Given the description of an element on the screen output the (x, y) to click on. 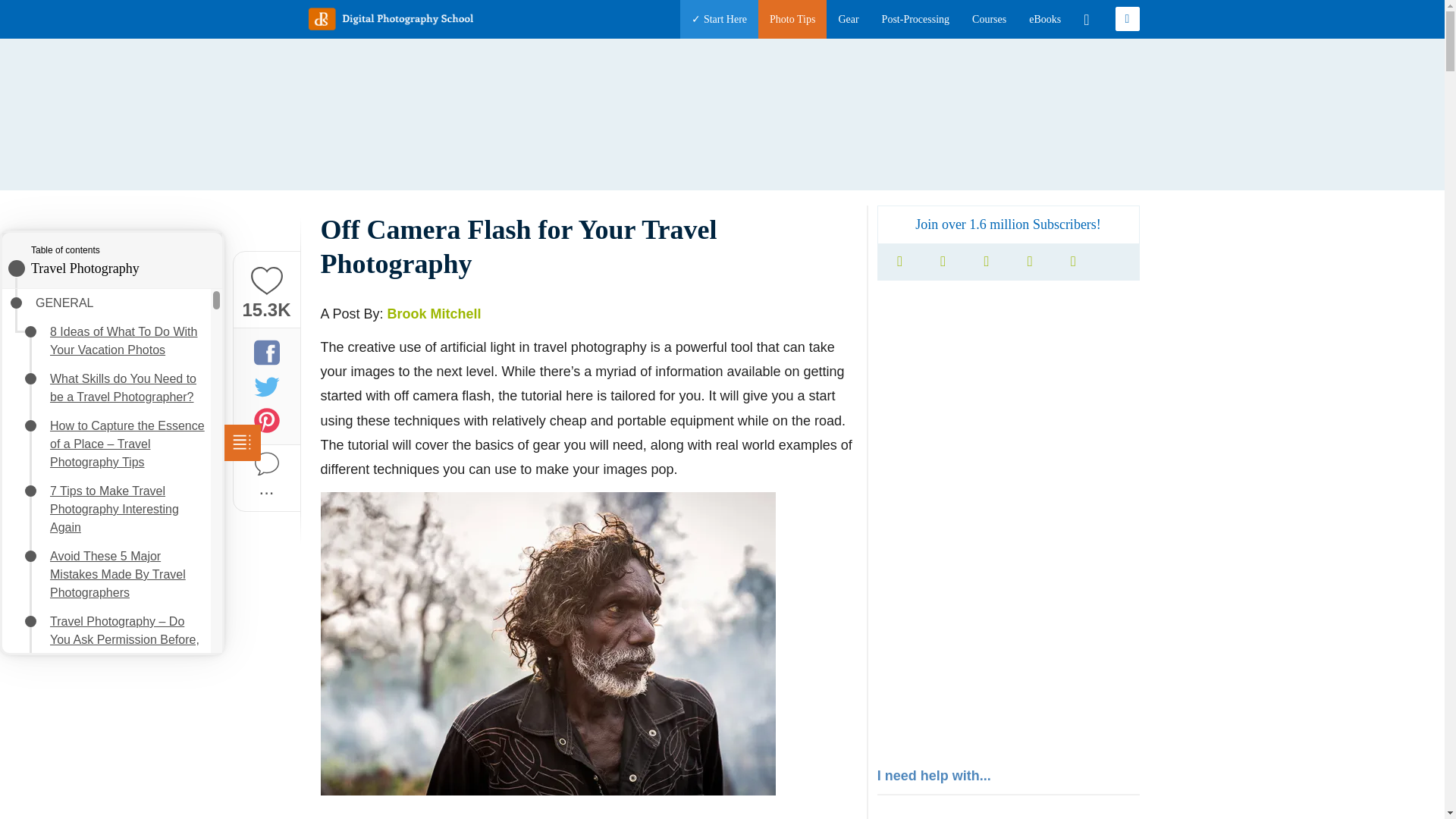
Click to share on Facebook (266, 352)
Photo Tips (791, 19)
Post-Processing (915, 19)
Click to share on Twitter (266, 385)
Click to share on Pinterest (266, 420)
Gear (847, 19)
Digital Photography School (390, 18)
